Given the description of an element on the screen output the (x, y) to click on. 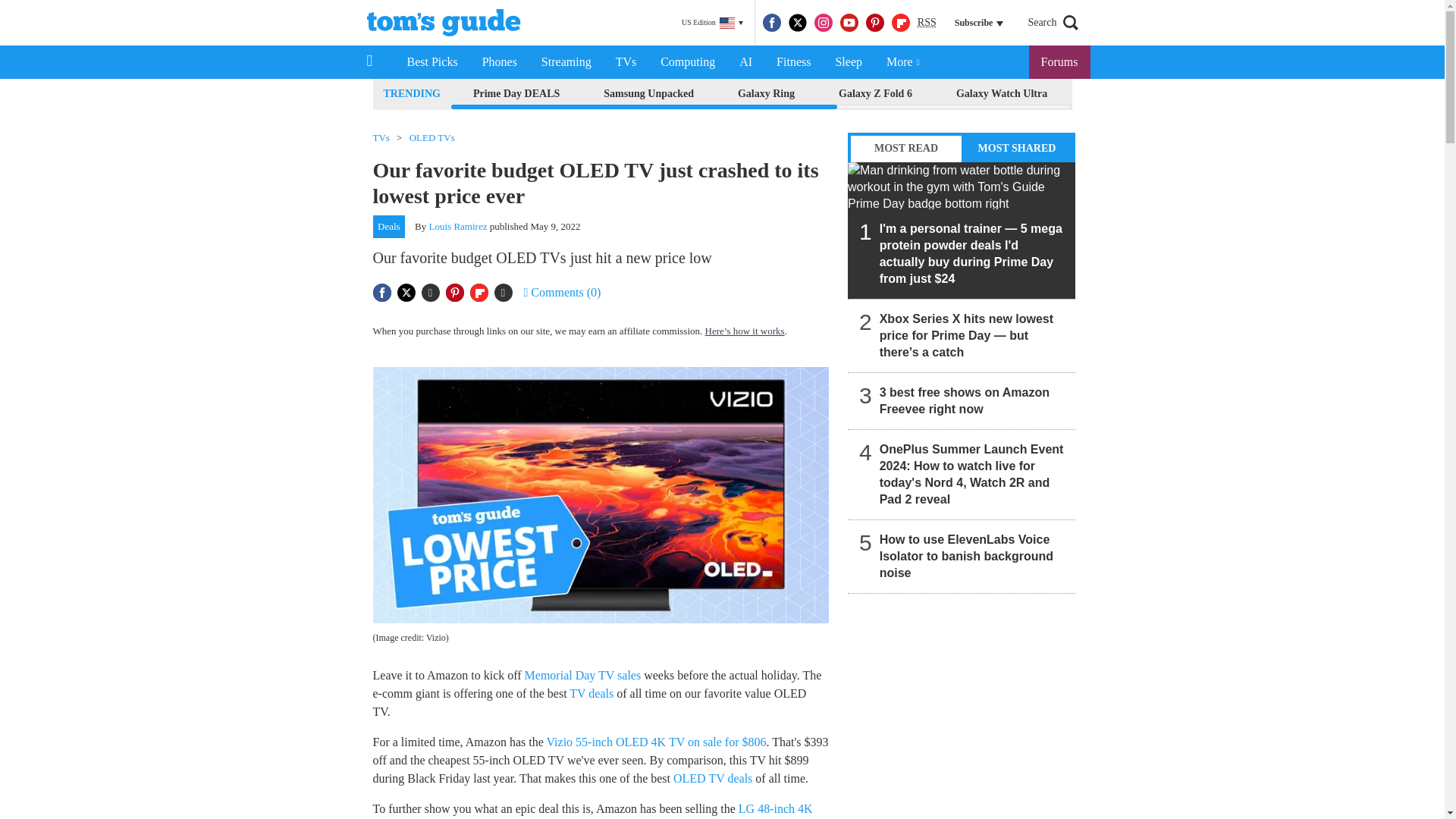
Really Simple Syndication (926, 21)
Fitness (793, 61)
Computing (686, 61)
AI (745, 61)
Sleep (848, 61)
RSS (926, 22)
US Edition (712, 22)
Phones (499, 61)
TVs (626, 61)
Best Picks (431, 61)
Streaming (566, 61)
